Given the description of an element on the screen output the (x, y) to click on. 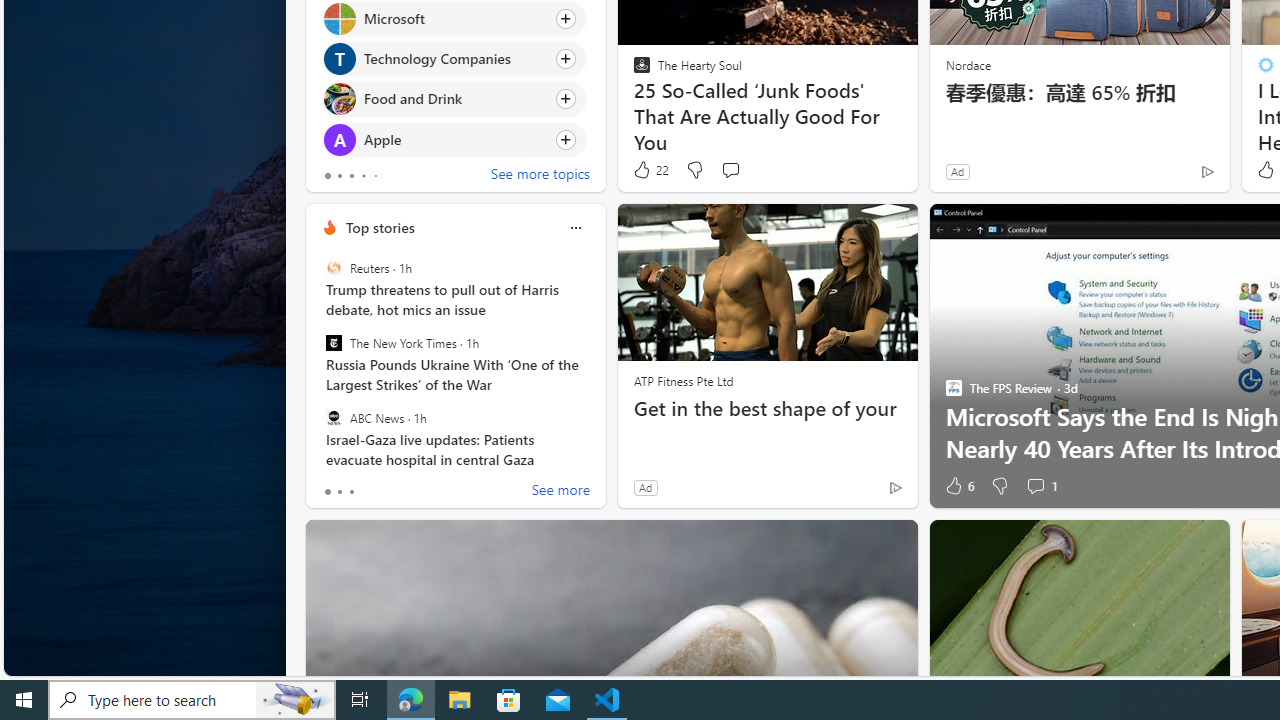
tab-4 (374, 175)
Click to follow topic Food and Drink (453, 99)
